Given the description of an element on the screen output the (x, y) to click on. 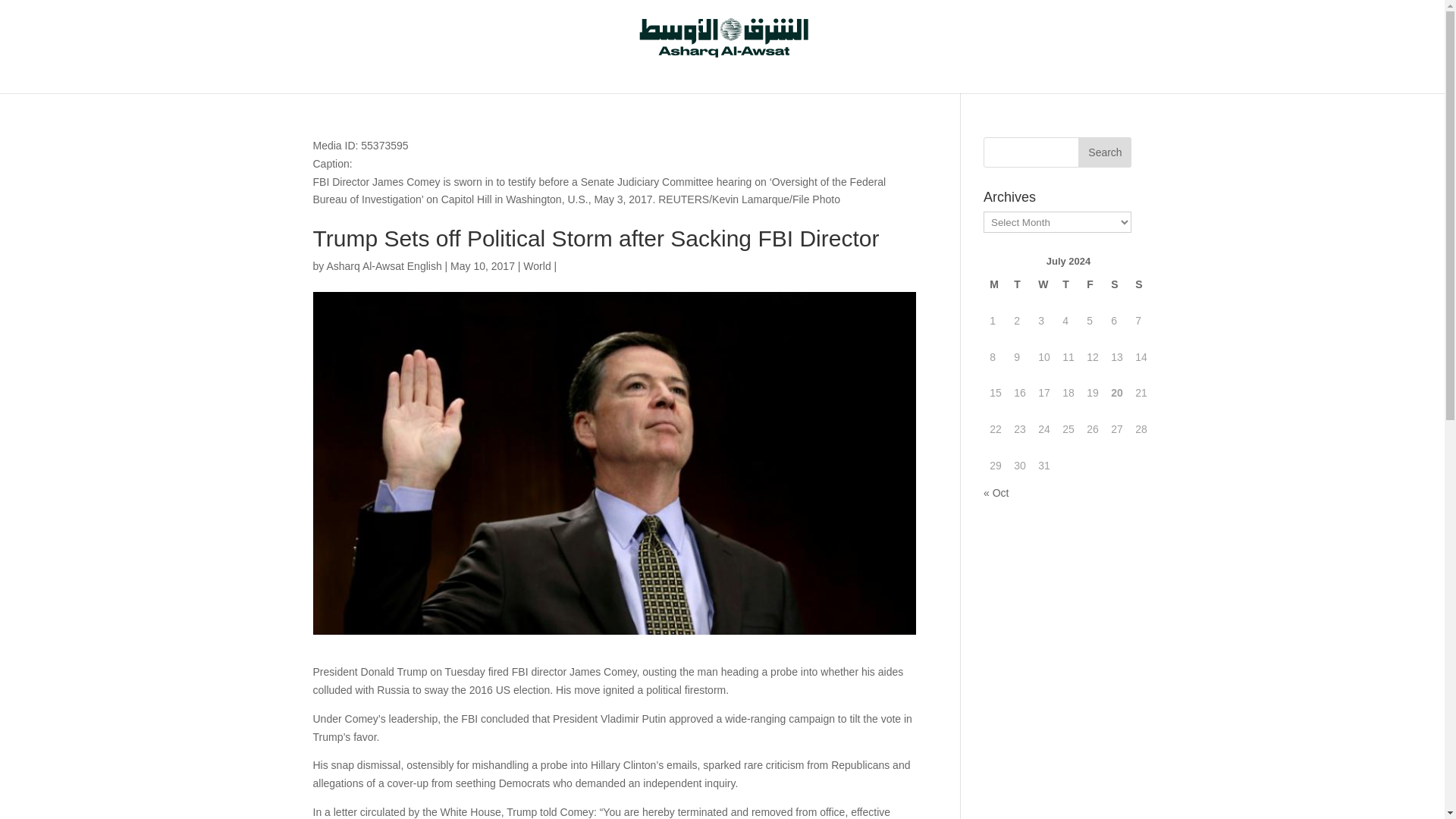
Search (1104, 152)
Posts by Asharq Al-Awsat English (383, 265)
World (536, 265)
Asharq Al-Awsat English (383, 265)
Search (1104, 152)
